Given the description of an element on the screen output the (x, y) to click on. 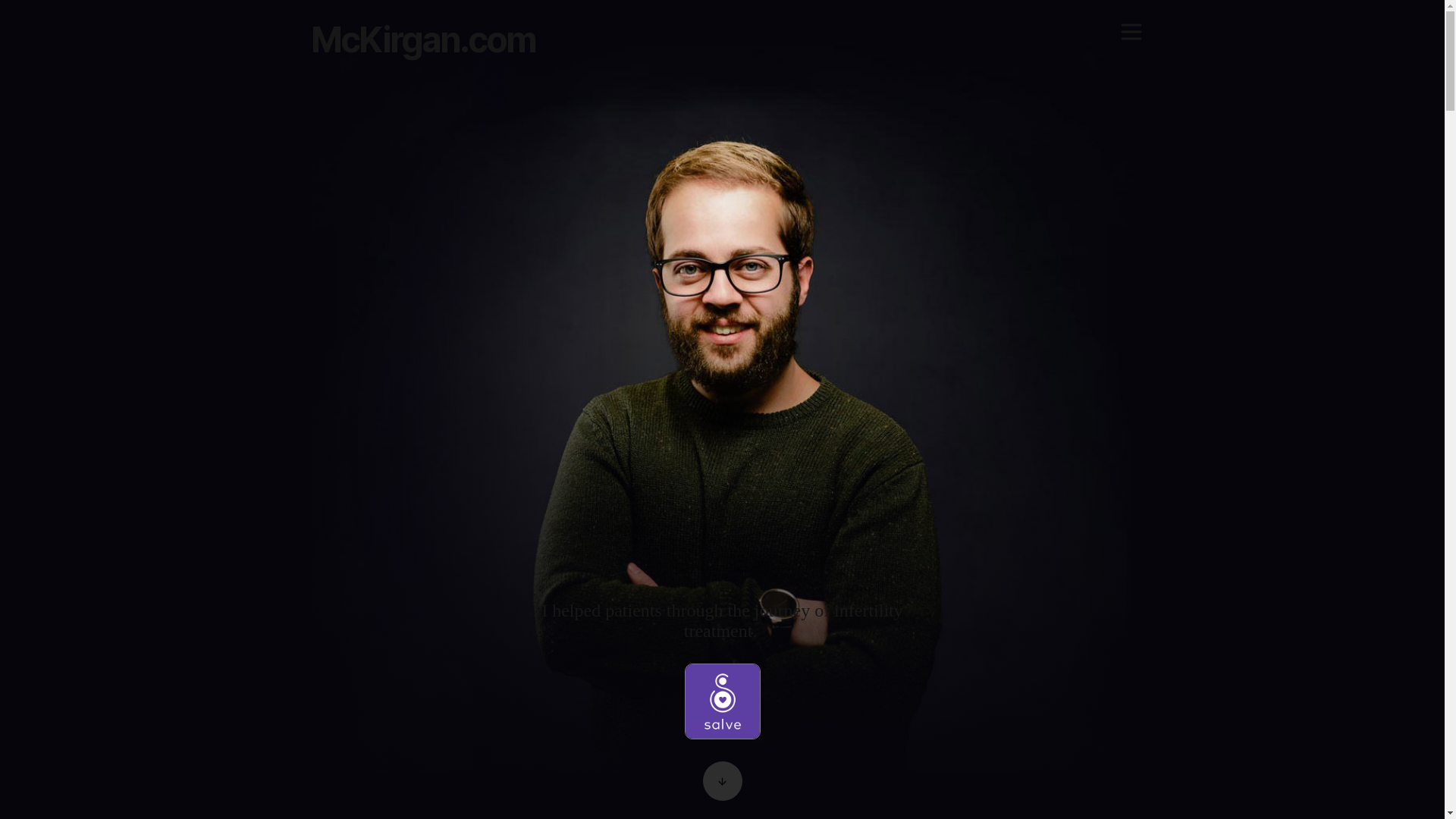
McKirgan.com (423, 39)
